Given the description of an element on the screen output the (x, y) to click on. 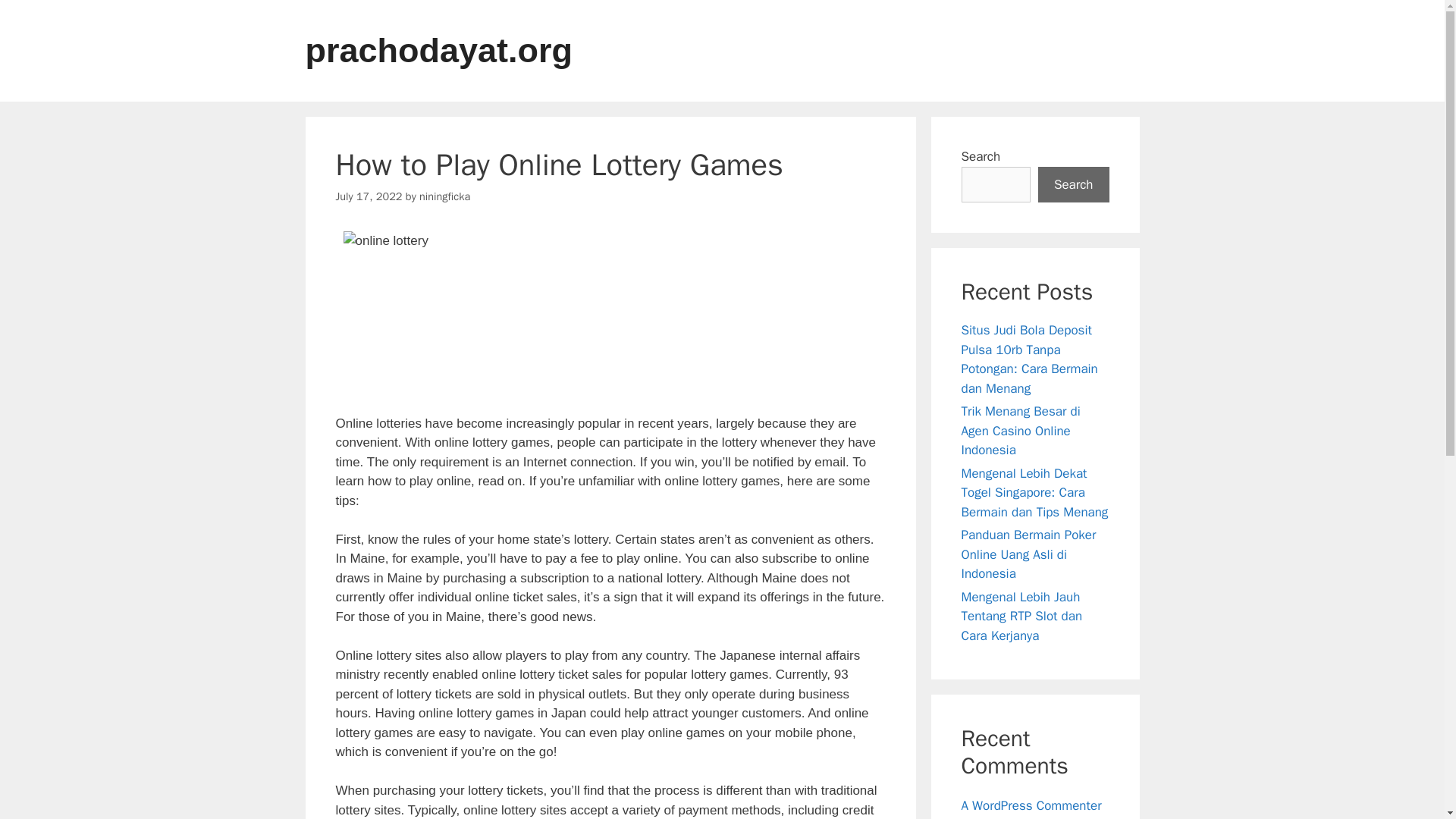
Panduan Bermain Poker Online Uang Asli di Indonesia (1028, 554)
Mengenal Lebih Jauh Tentang RTP Slot dan Cara Kerjanya (1021, 615)
niningficka (444, 196)
A WordPress Commenter (1031, 805)
Search (1073, 185)
prachodayat.org (438, 50)
View all posts by niningficka (444, 196)
Trik Menang Besar di Agen Casino Online Indonesia (1020, 430)
